Given the description of an element on the screen output the (x, y) to click on. 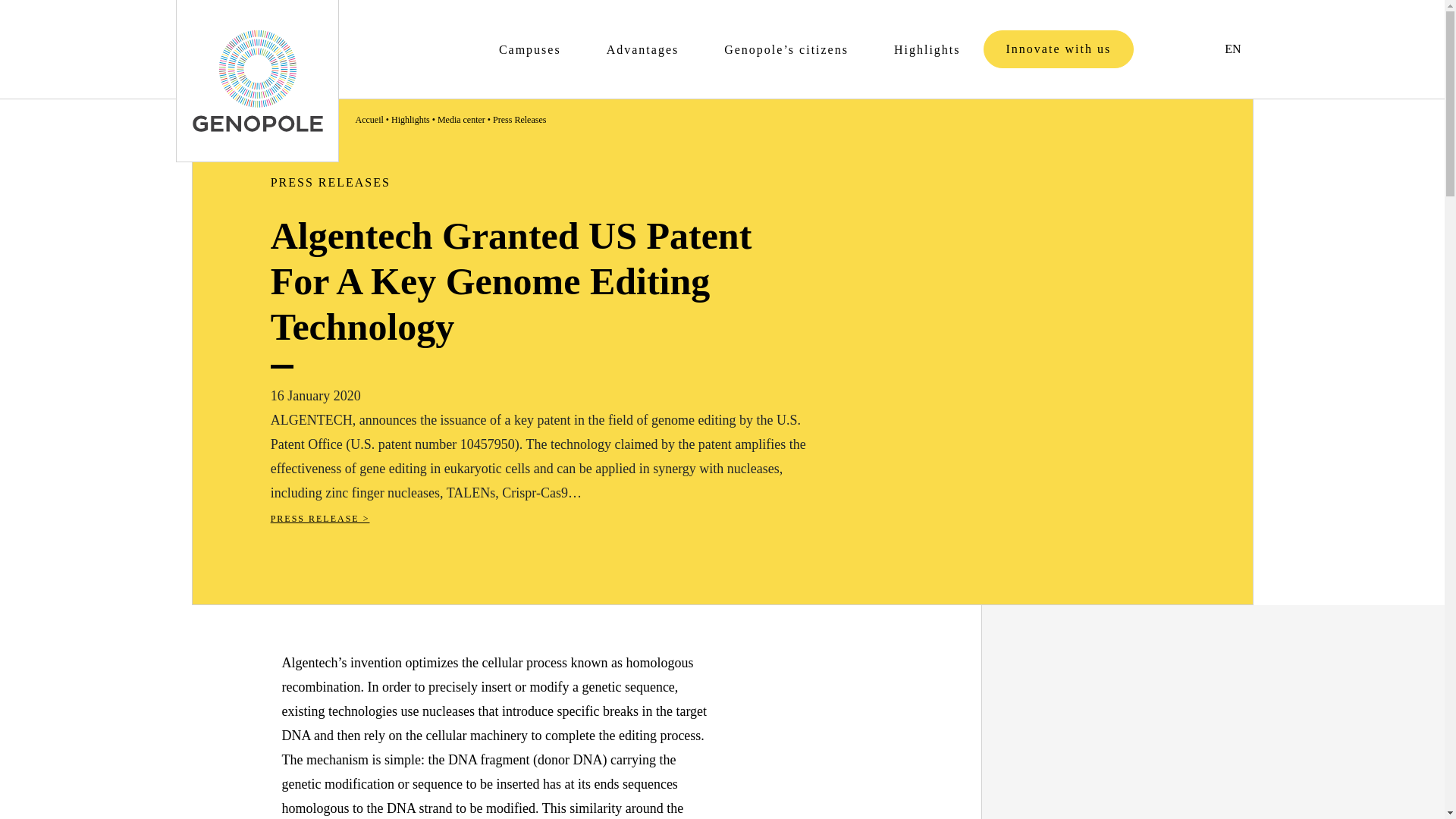
Advantages (642, 59)
Highlights (927, 59)
Campuses (529, 59)
Innovate with us (1059, 48)
